Given the description of an element on the screen output the (x, y) to click on. 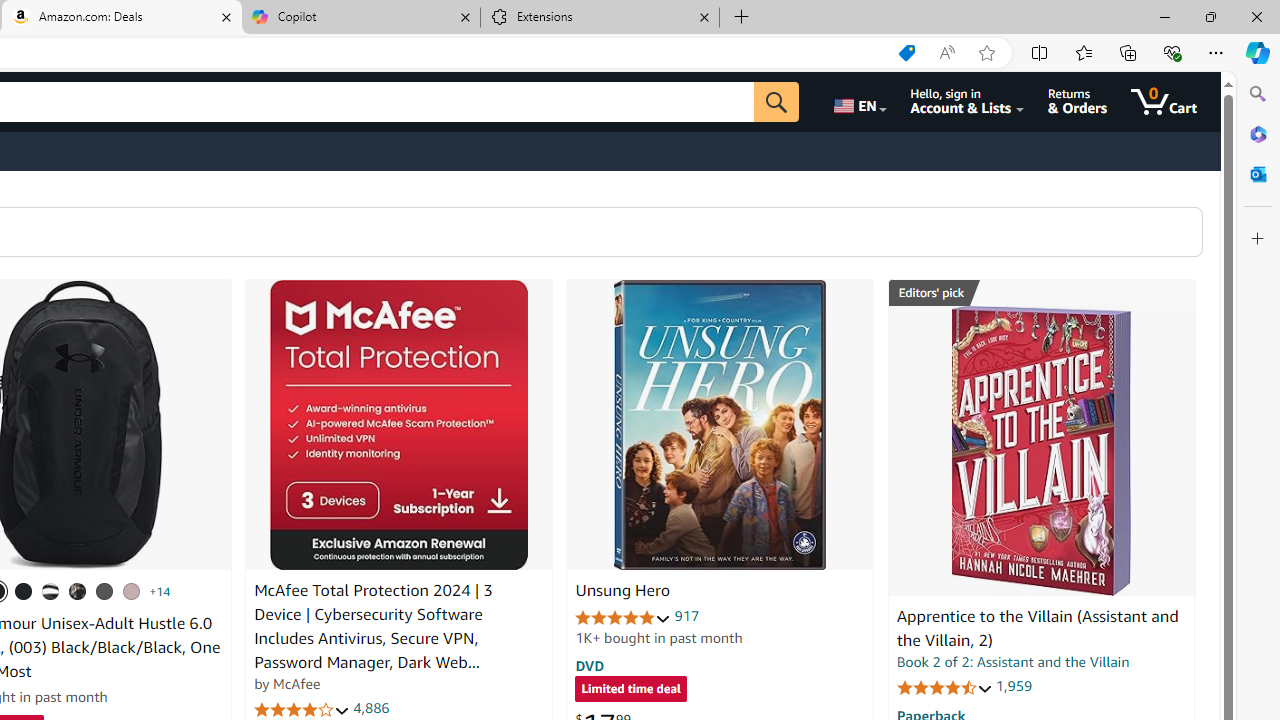
Returns & Orders (1077, 101)
Hello, sign in Account & Lists (967, 101)
Apprentice to the Villain (Assistant and the Villain, 2) (1037, 628)
(015) Tetra Gray / Tetra Gray / Gray Matter (131, 591)
Go (776, 101)
4.9 out of 5 stars (623, 616)
Extensions (600, 17)
917 (687, 616)
